Given the description of an element on the screen output the (x, y) to click on. 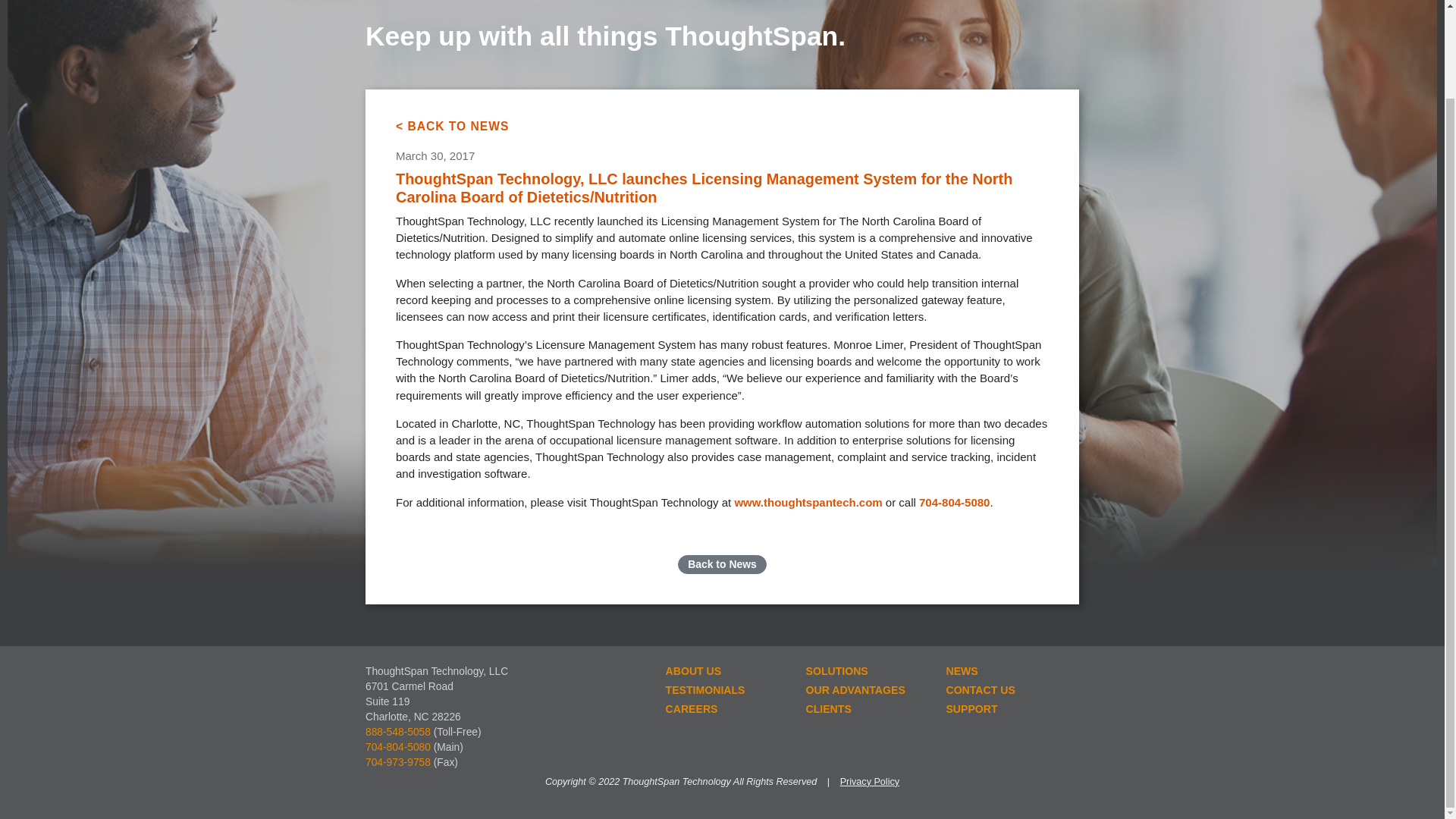
888-548-5058 (397, 731)
Privacy Policy (869, 781)
SUPPORT (1004, 709)
CAREERS (723, 709)
TESTIMONIALS (723, 690)
704-973-9758 (397, 762)
ABOUT US (723, 670)
CLIENTS (864, 709)
NEWS (1004, 670)
SOLUTIONS (864, 670)
